Given the description of an element on the screen output the (x, y) to click on. 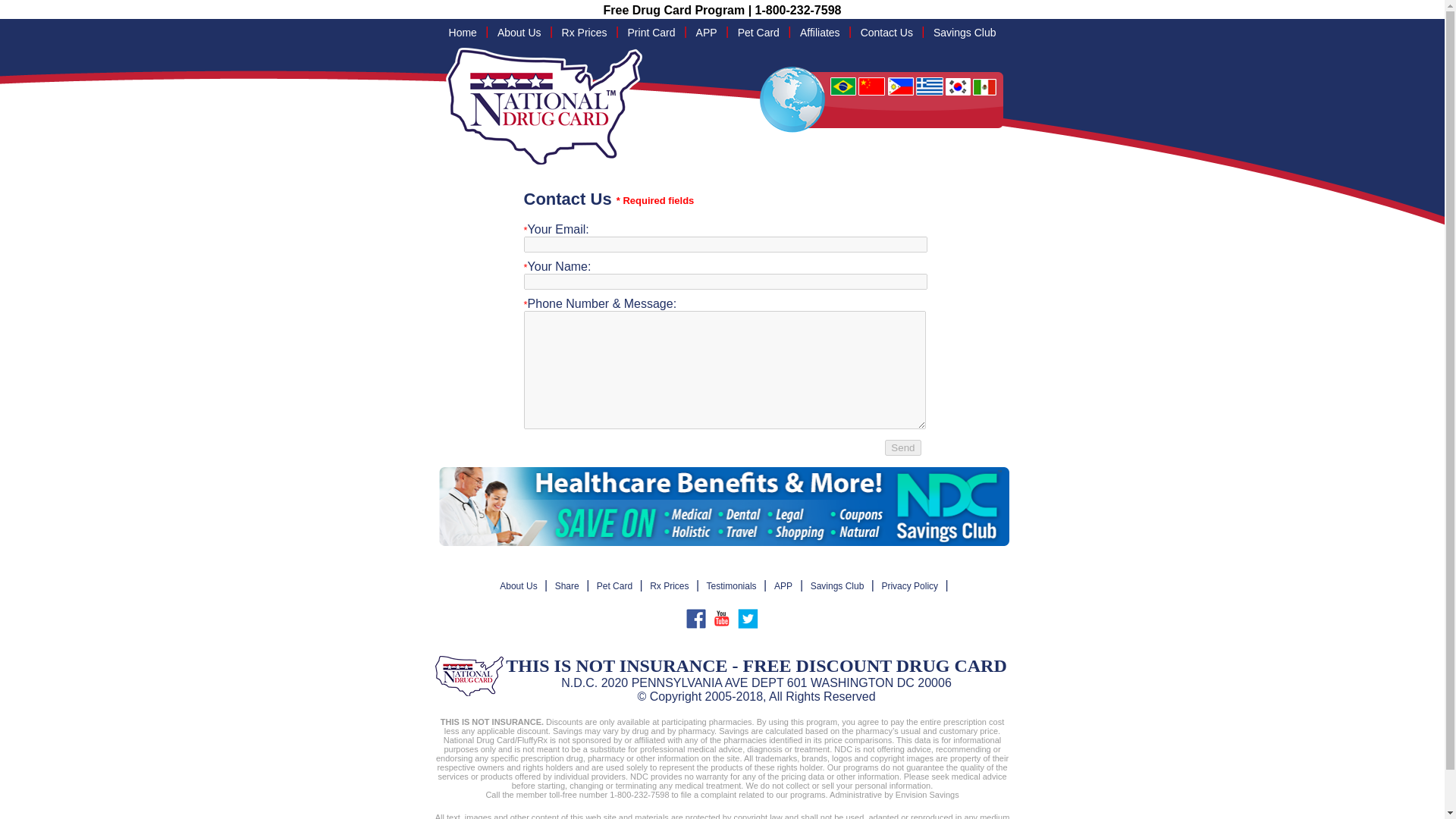
Pet Card (758, 32)
APP (783, 586)
Pet Card (614, 586)
Savings Club (836, 586)
Send (902, 447)
Share (567, 586)
About Us (519, 32)
Send (902, 447)
Affiliates (819, 32)
Savings Club (964, 32)
Rx Prices (584, 32)
Print Card (652, 32)
APP (706, 32)
Privacy Policy (909, 586)
Testimonials (731, 586)
